Given the description of an element on the screen output the (x, y) to click on. 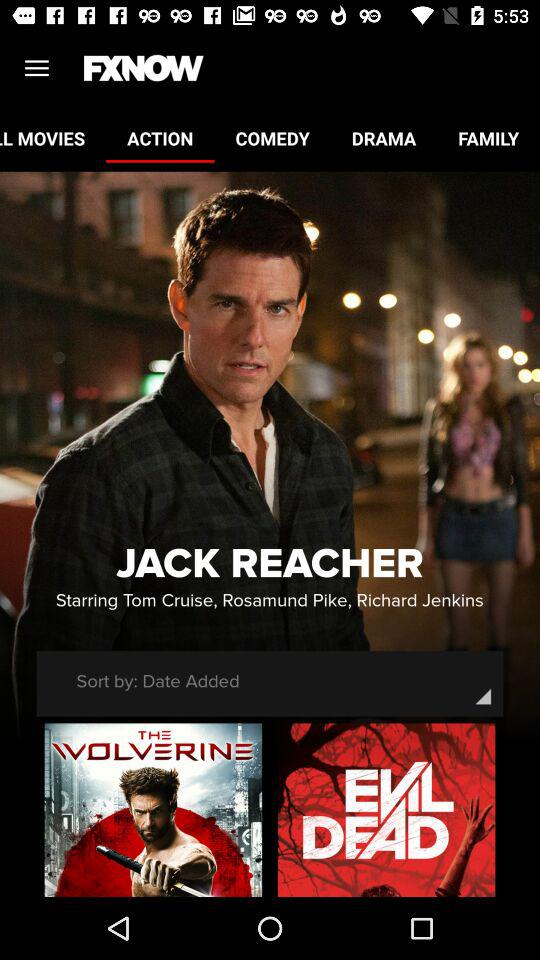
open icon to the left of the family item (383, 138)
